Given the description of an element on the screen output the (x, y) to click on. 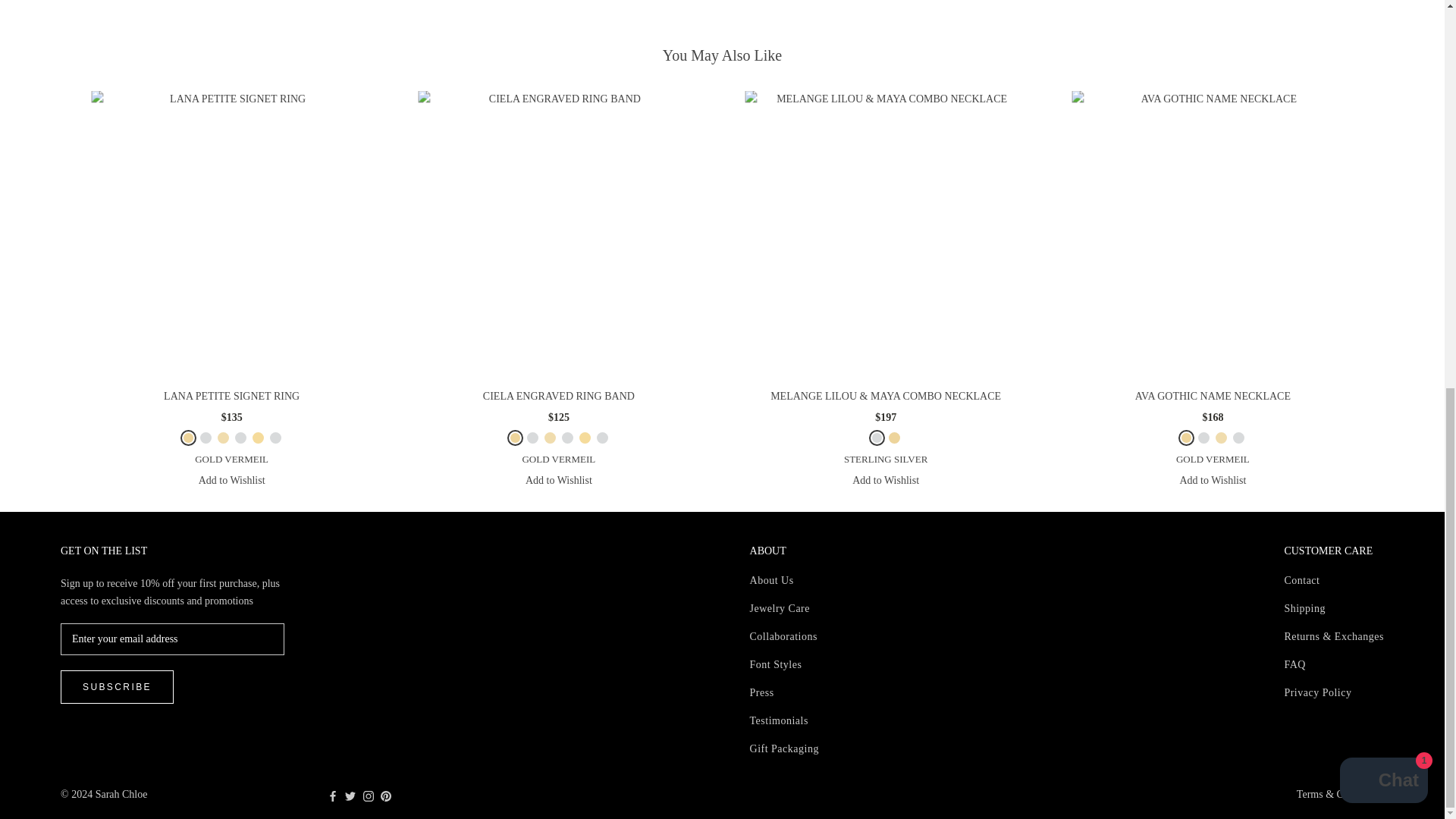
STERLING SILVER (205, 437)
14KT YELLOW GOLD (222, 437)
GOLD VERMEIL (1186, 437)
14KT WHITE GOLD (240, 437)
14KT WHITE GOLD (567, 437)
18KT YELLOW GOLD (585, 437)
GOLD PLATED (893, 437)
18KT WHITE GOLD (275, 437)
STERLING SILVER (876, 437)
GOLD VERMEIL (188, 437)
18KT WHITE GOLD (602, 437)
STERLING SILVER (532, 437)
18KT YELLOW GOLD (257, 437)
GOLD VERMEIL (515, 437)
14KT YELLOW GOLD (550, 437)
